Given the description of an element on the screen output the (x, y) to click on. 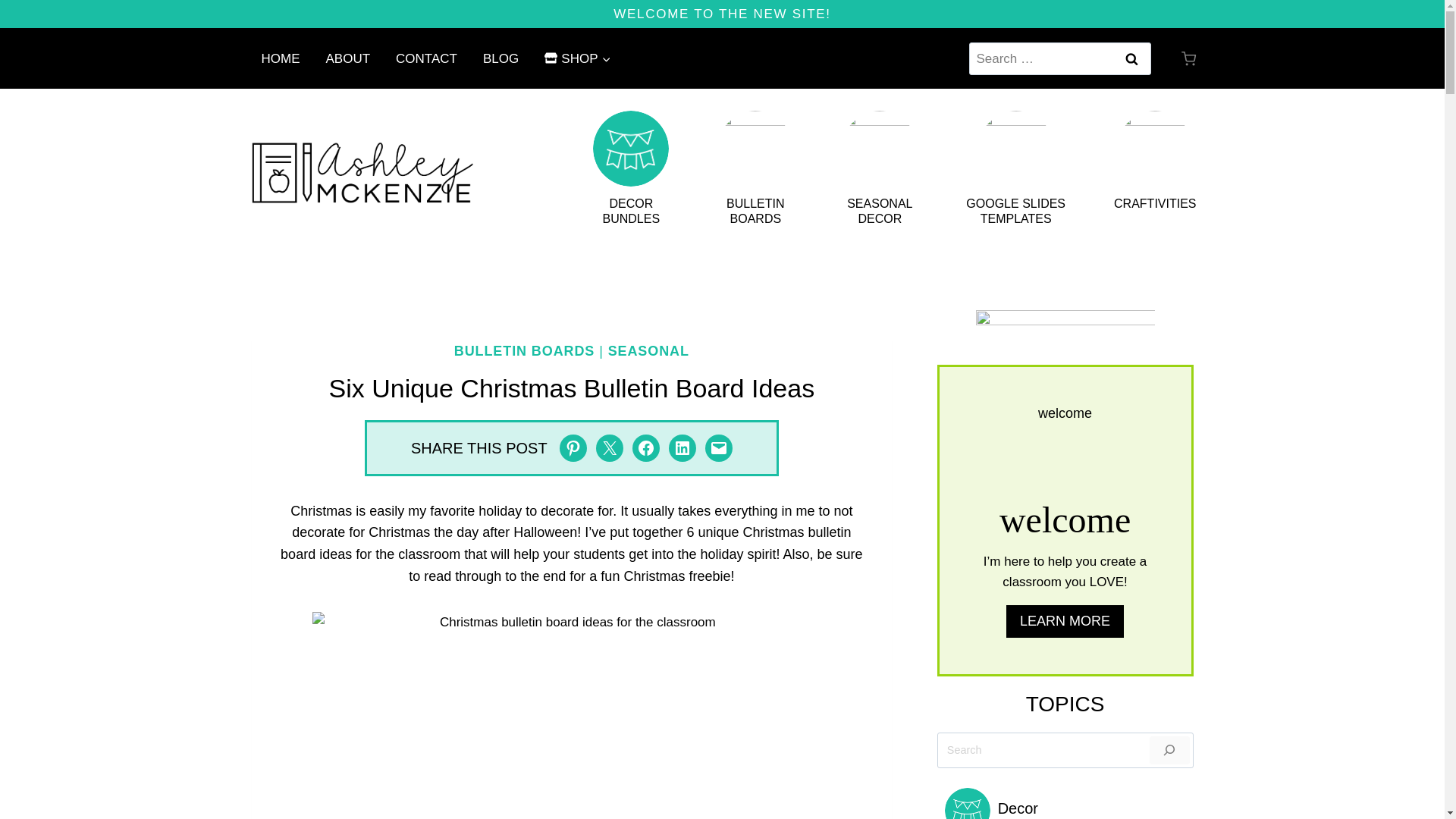
Search (1132, 58)
CONTACT (426, 58)
HOME (280, 58)
Email this Page (718, 447)
SHOP (577, 58)
SEASONAL (648, 350)
Share on X (609, 447)
Share on Facebook (645, 447)
Share on LinkedIn (681, 447)
Share on Pinterest (572, 447)
Search (1132, 58)
Search (1132, 58)
BLOG (500, 58)
BULLETIN BOARDS (524, 350)
ABOUT (347, 58)
